Given the description of an element on the screen output the (x, y) to click on. 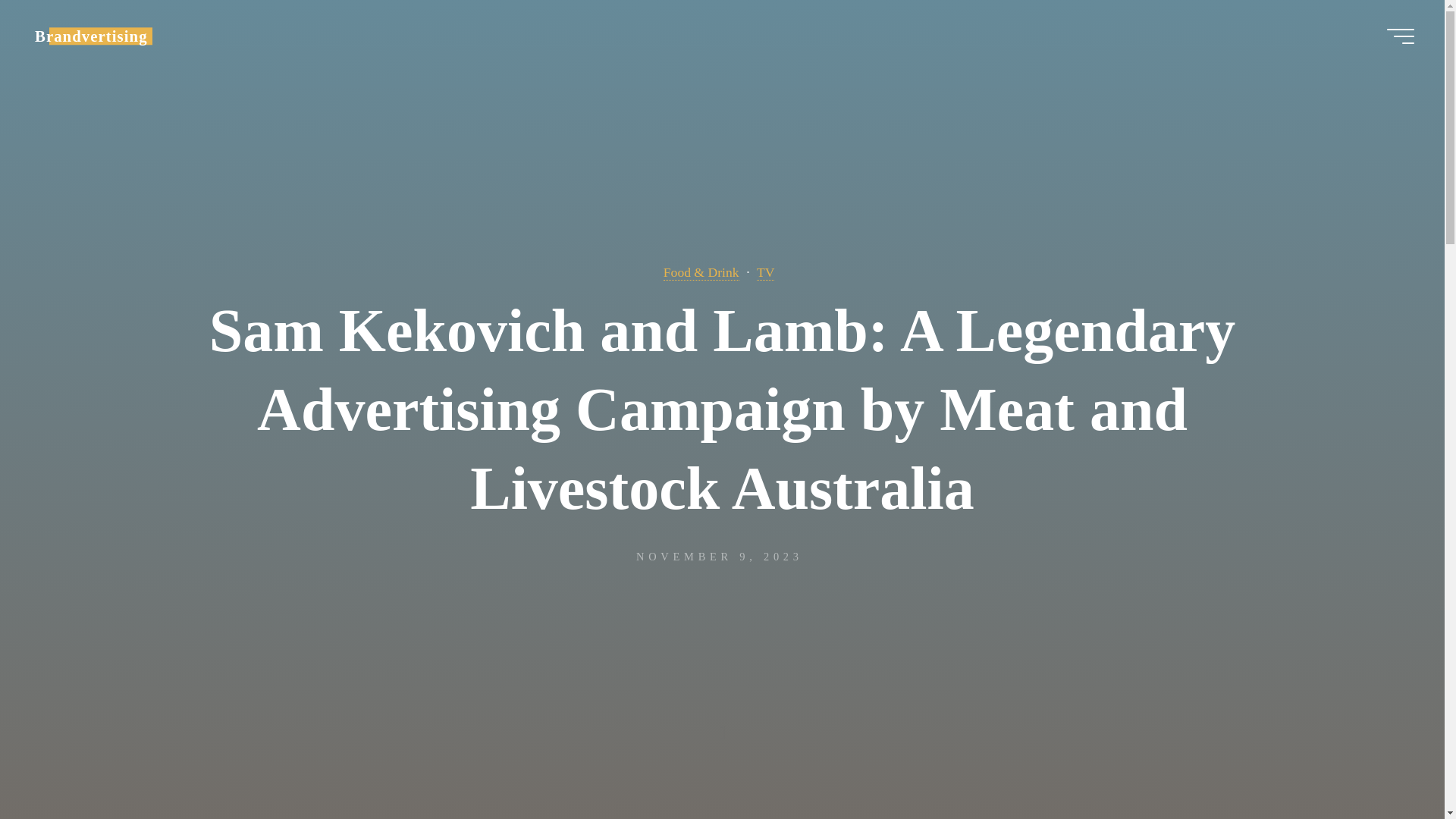
TV (765, 272)
Brandvertising (91, 36)
top performing campaigns in branding and advertising (91, 36)
Read more (721, 724)
